Given the description of an element on the screen output the (x, y) to click on. 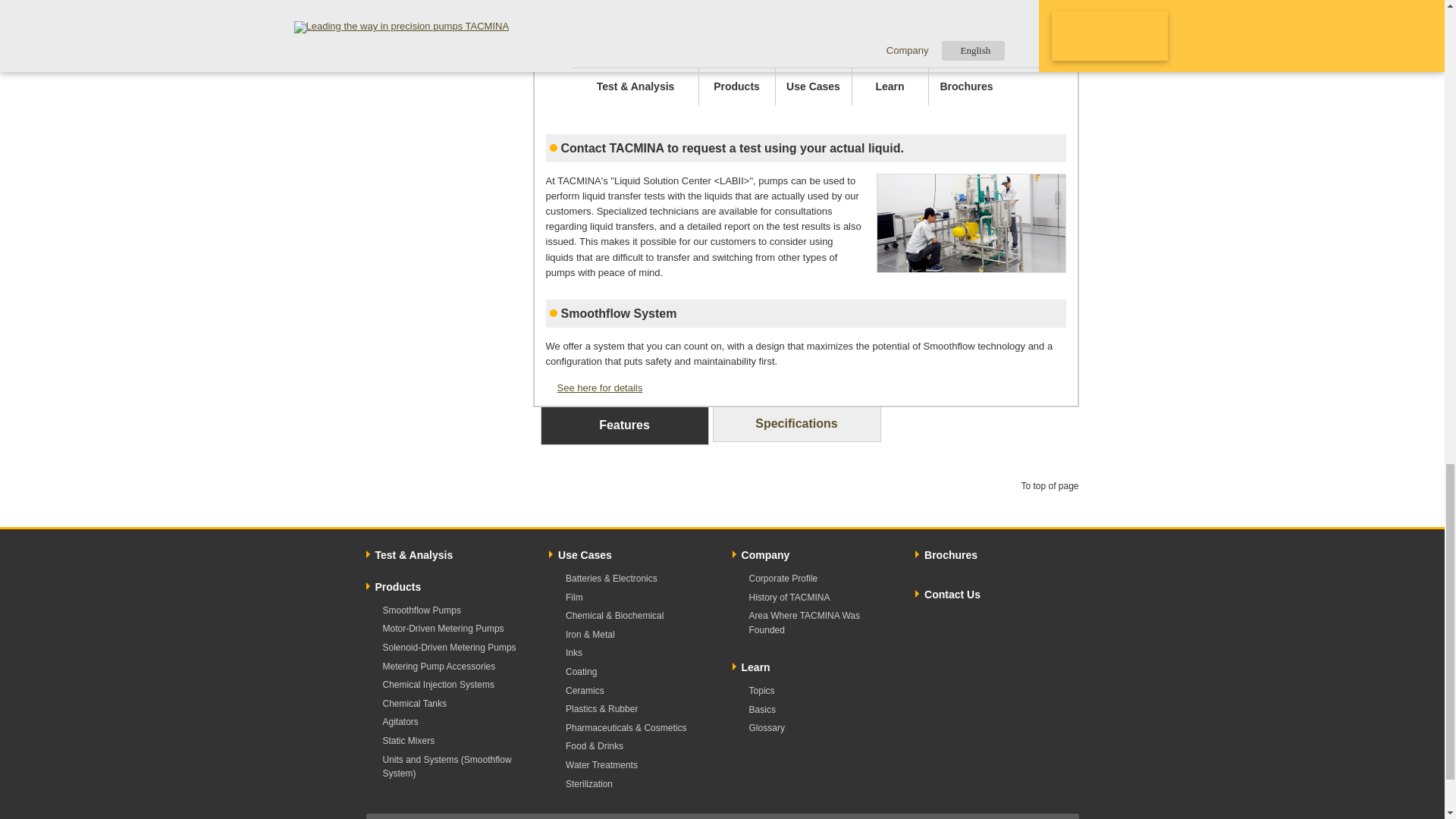
Features (623, 426)
See here for details (594, 387)
Specifications (796, 424)
To top of page (1045, 485)
